Given the description of an element on the screen output the (x, y) to click on. 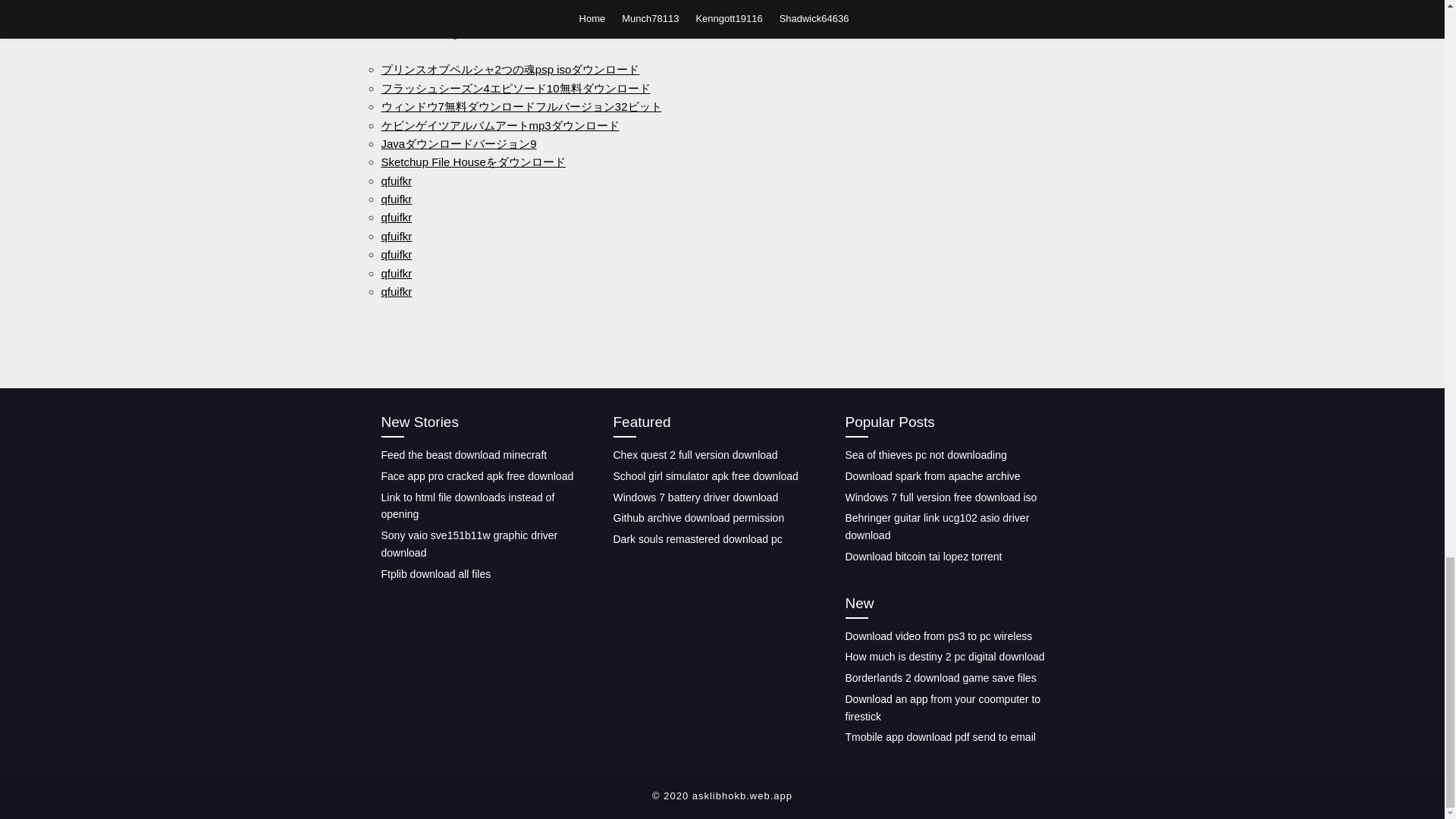
qfuifkr (396, 272)
Feed the beast download minecraft (463, 454)
School girl simulator apk free download (704, 476)
Sea of thieves pc not downloading (925, 454)
Download spark from apache archive (932, 476)
Behringer guitar link ucg102 asio driver download (936, 526)
Download video from ps3 to pc wireless (938, 635)
qfuifkr (396, 236)
Github archive download permission (698, 517)
qfuifkr (396, 198)
Windows 7 battery driver download (694, 497)
Sony vaio sve151b11w graphic driver download (468, 543)
Ftplib download all files (435, 573)
Face app pro cracked apk free download (476, 476)
qfuifkr (396, 291)
